Given the description of an element on the screen output the (x, y) to click on. 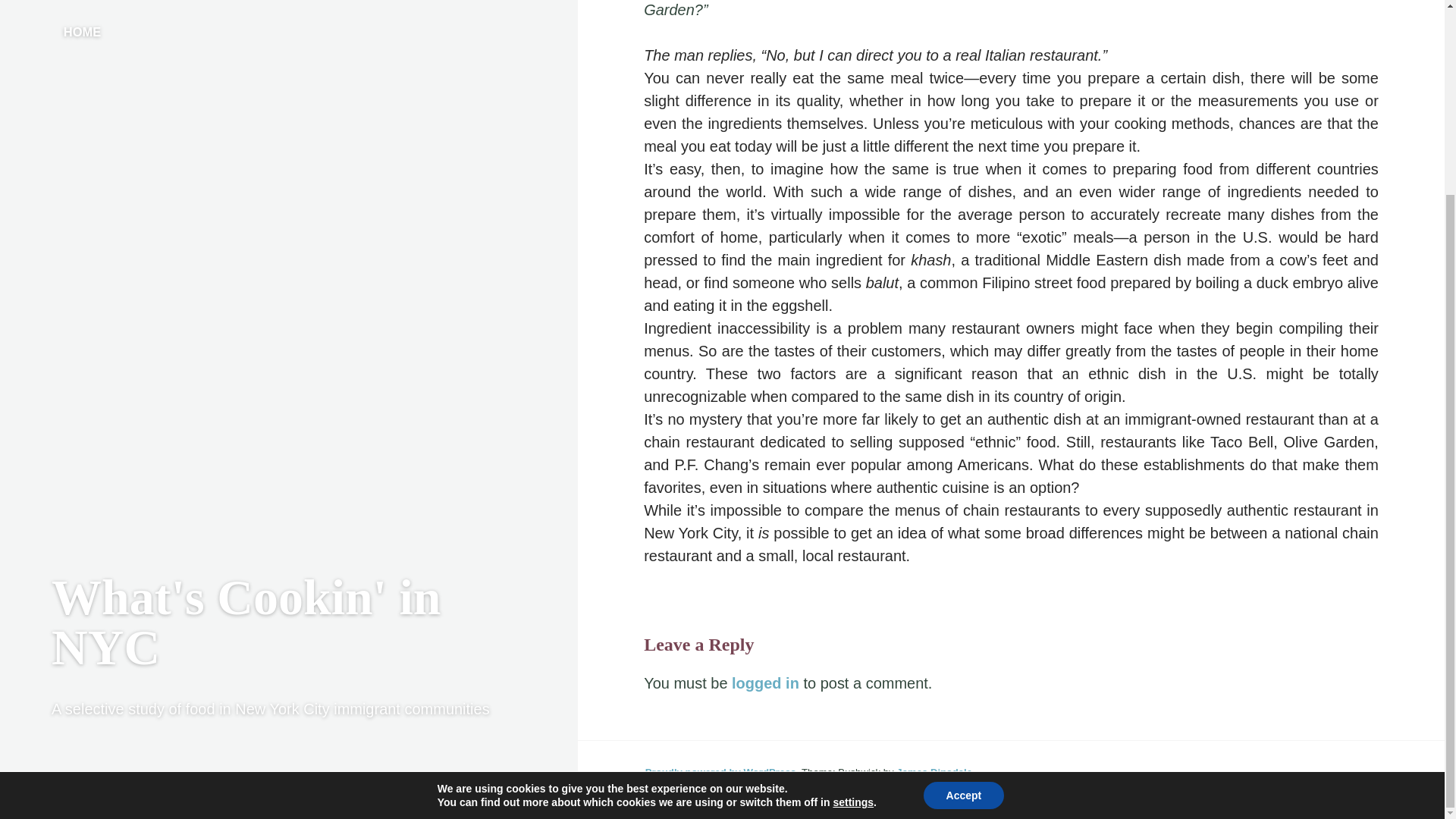
What's Cookin' in NYC (245, 376)
A Semantic Personal Publishing Platform (722, 772)
What's Cookin' in NYC (245, 376)
